Given the description of an element on the screen output the (x, y) to click on. 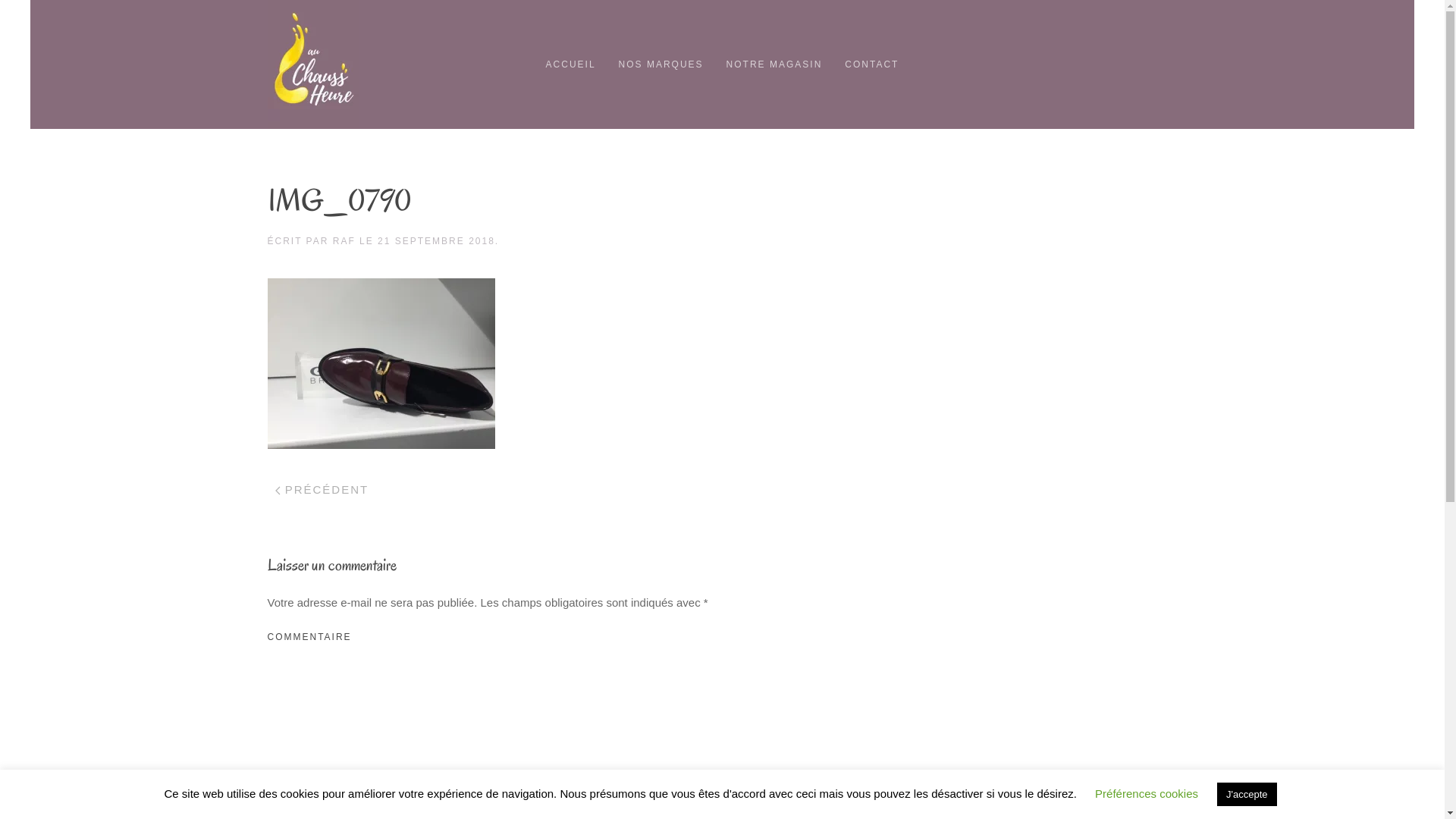
RAF Element type: text (343, 240)
CONTACT Element type: text (871, 64)
J'accepte Element type: text (1247, 794)
NOTRE MAGASIN Element type: text (774, 64)
NOS MARQUES Element type: text (660, 64)
ACCUEIL Element type: text (571, 64)
